Given the description of an element on the screen output the (x, y) to click on. 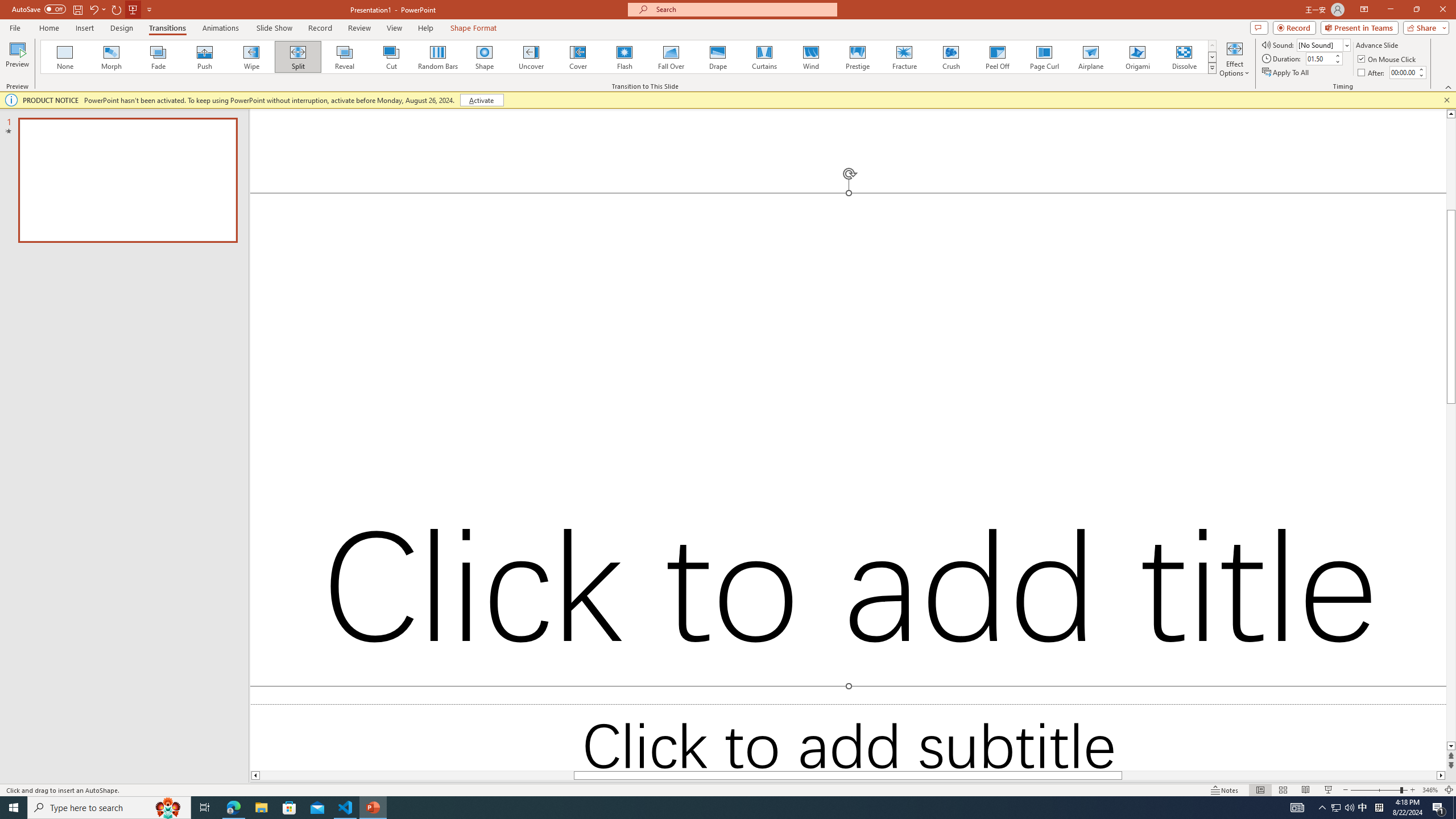
Title (1369, 348)
Phonetic Guide... (350, 77)
Enclose Characters... (374, 102)
Show Preview (1334, 707)
AutomationID: QuickStylesGallery (841, 91)
Page Number Page 1 of 1 (30, 773)
Subscript (199, 102)
Row Down (1025, 92)
Book Title (1369, 512)
